Given the description of an element on the screen output the (x, y) to click on. 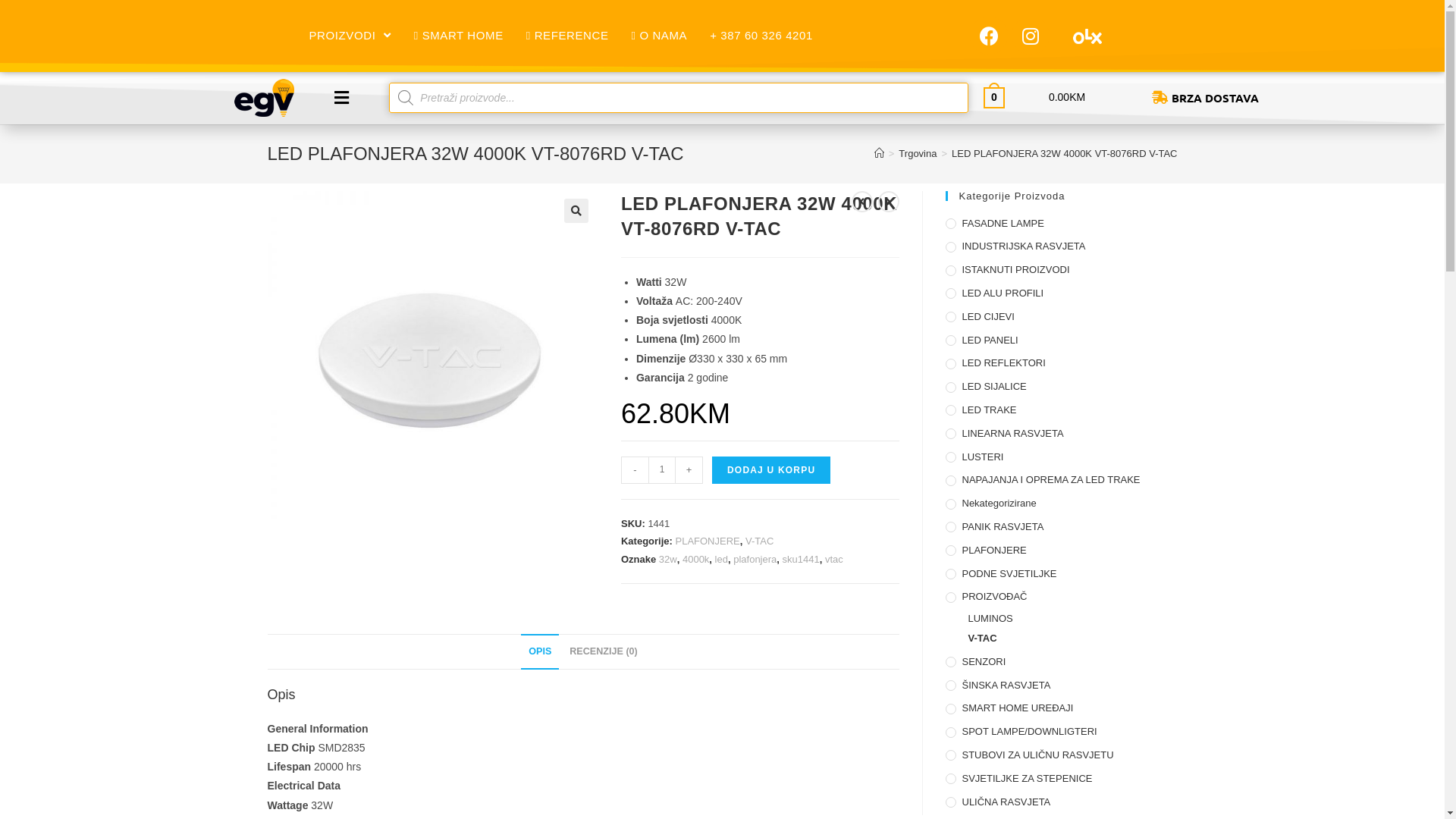
- Element type: text (634, 469)
ISTAKNUTI PROIZVODI Element type: text (1060, 270)
0 Element type: text (993, 97)
LED ALU PROFILI Element type: text (1060, 293)
LUSTERI Element type: text (1060, 457)
led Element type: text (721, 558)
4000k Element type: text (695, 558)
V-TAC Element type: text (759, 540)
LED REFLEKTORI Element type: text (1060, 363)
PANIK RASVJETA Element type: text (1060, 527)
V-TAC Element type: text (1071, 638)
SENZORI Element type: text (1060, 662)
+ 387 60 326 4201 Element type: text (761, 35)
PODNE SVJETILJKE Element type: text (1060, 574)
Trgovina Element type: text (917, 153)
FASADNE LAMPE Element type: text (1060, 224)
plafonjera Element type: text (754, 558)
Nekategorizirane Element type: text (1060, 503)
PLAFONJERE Element type: text (1060, 550)
BRZA DOSTAVA Element type: text (1279, 97)
DODAJ U KORPU Element type: text (771, 469)
LED TRAKE Element type: text (1060, 410)
OPIS Element type: text (539, 651)
INDUSTRIJSKA RASVJETA Element type: text (1060, 246)
LED CIJEVI Element type: text (1060, 317)
SPOT LAMPE/DOWNLIGTERI Element type: text (1060, 732)
PROIZVODI Element type: text (349, 35)
LED PLAFONJERA 32W 4000K VT-8076RD V-TAC Element type: text (1063, 153)
sku1441 Element type: text (800, 558)
LINEARNA RASVJETA Element type: text (1060, 434)
SVJETILJKE ZA STEPENICE Element type: text (1060, 779)
PLAFONJERE Element type: text (706, 540)
LUMINOS Element type: text (1071, 619)
RECENZIJE (0) Element type: text (603, 651)
LED PANELI Element type: text (1060, 340)
+ Element type: text (688, 469)
LED SIJALICE Element type: text (1060, 387)
vtac Element type: text (834, 558)
NAPAJANJA I OPREMA ZA LED TRAKE Element type: text (1060, 480)
32w Element type: text (667, 558)
